Given the description of an element on the screen output the (x, y) to click on. 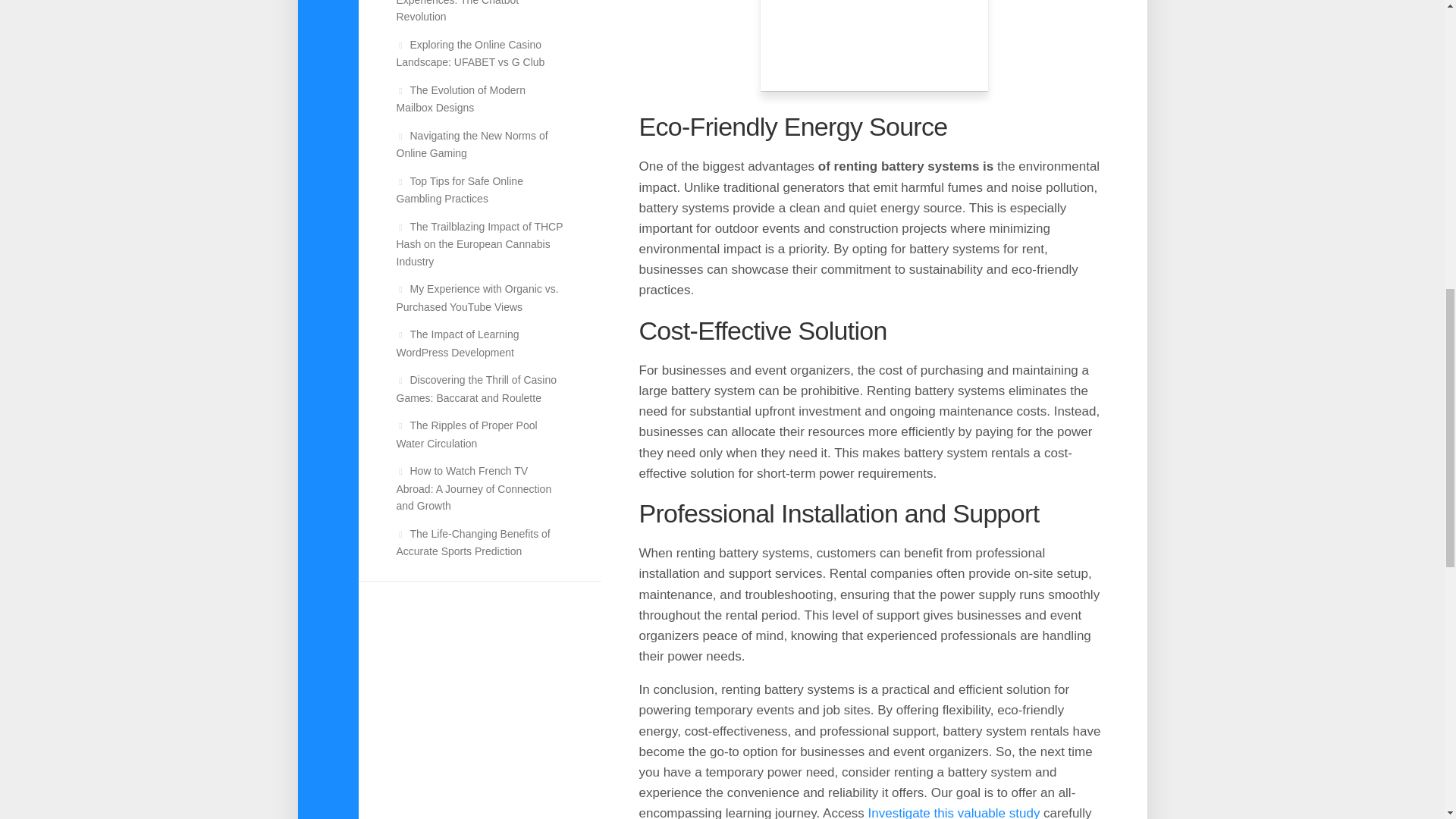
Exploring the Online Casino Landscape: UFABET vs G Club (470, 52)
Navigating the New Norms of Online Gaming (471, 143)
Transforming Retail Experiences: The Chatbot Revolution (457, 11)
Top Tips for Safe Online Gambling Practices (459, 189)
Investigate this valuable study (954, 812)
The Evolution of Modern Mailbox Designs (460, 98)
